Given the description of an element on the screen output the (x, y) to click on. 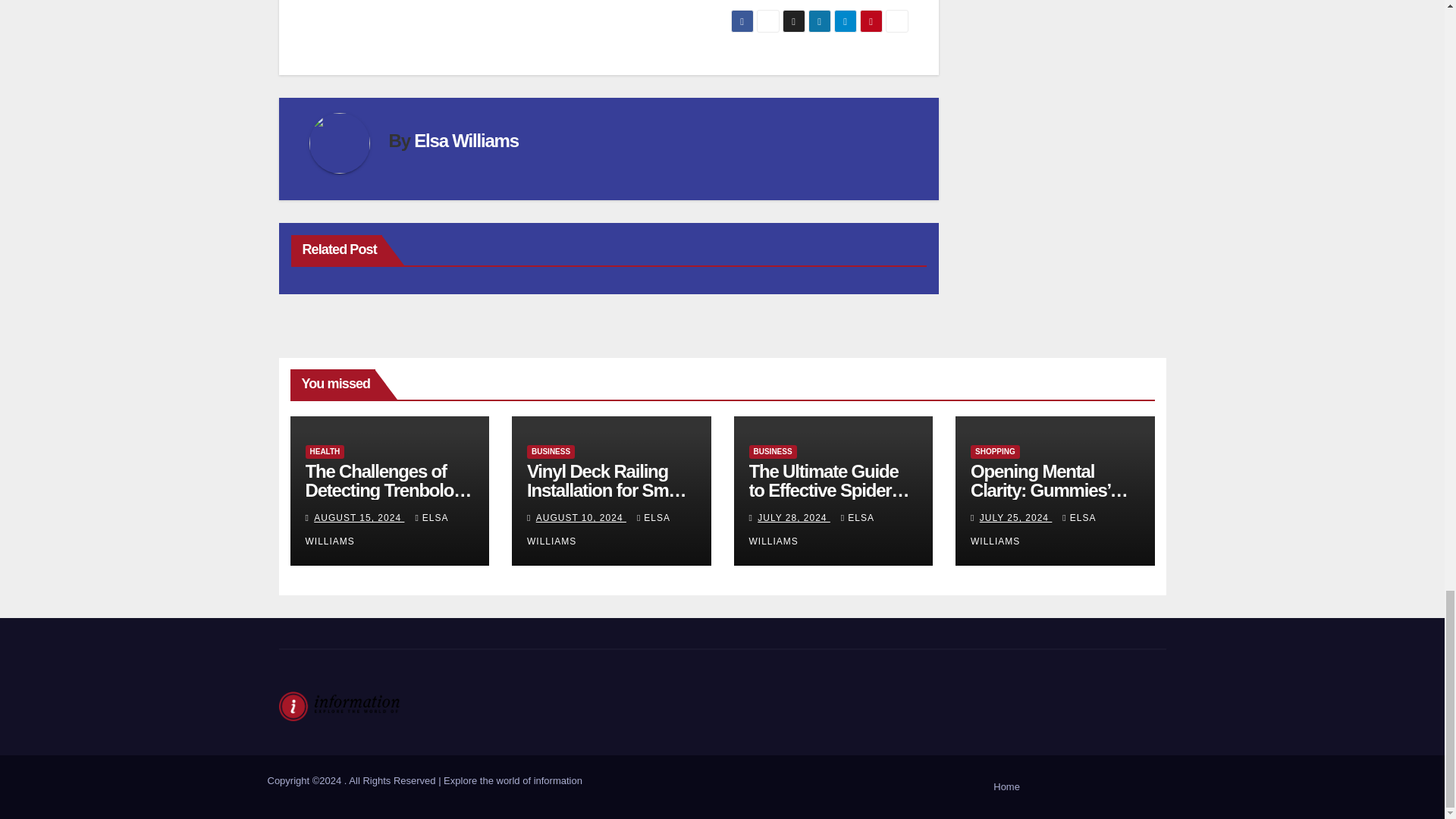
Home (1006, 786)
Elsa Williams (465, 140)
